Given the description of an element on the screen output the (x, y) to click on. 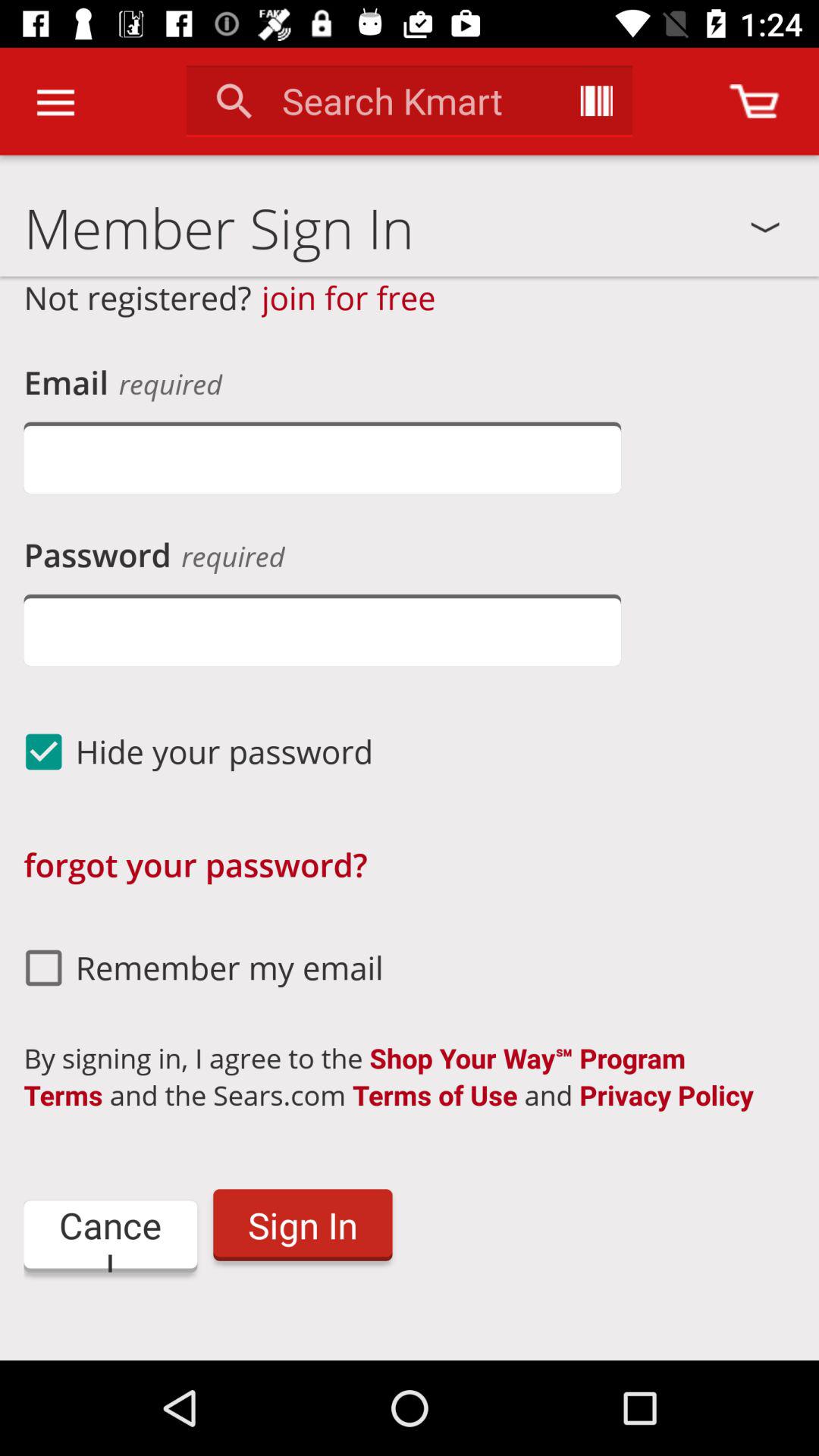
turn on item above the register (110, 1236)
